Given the description of an element on the screen output the (x, y) to click on. 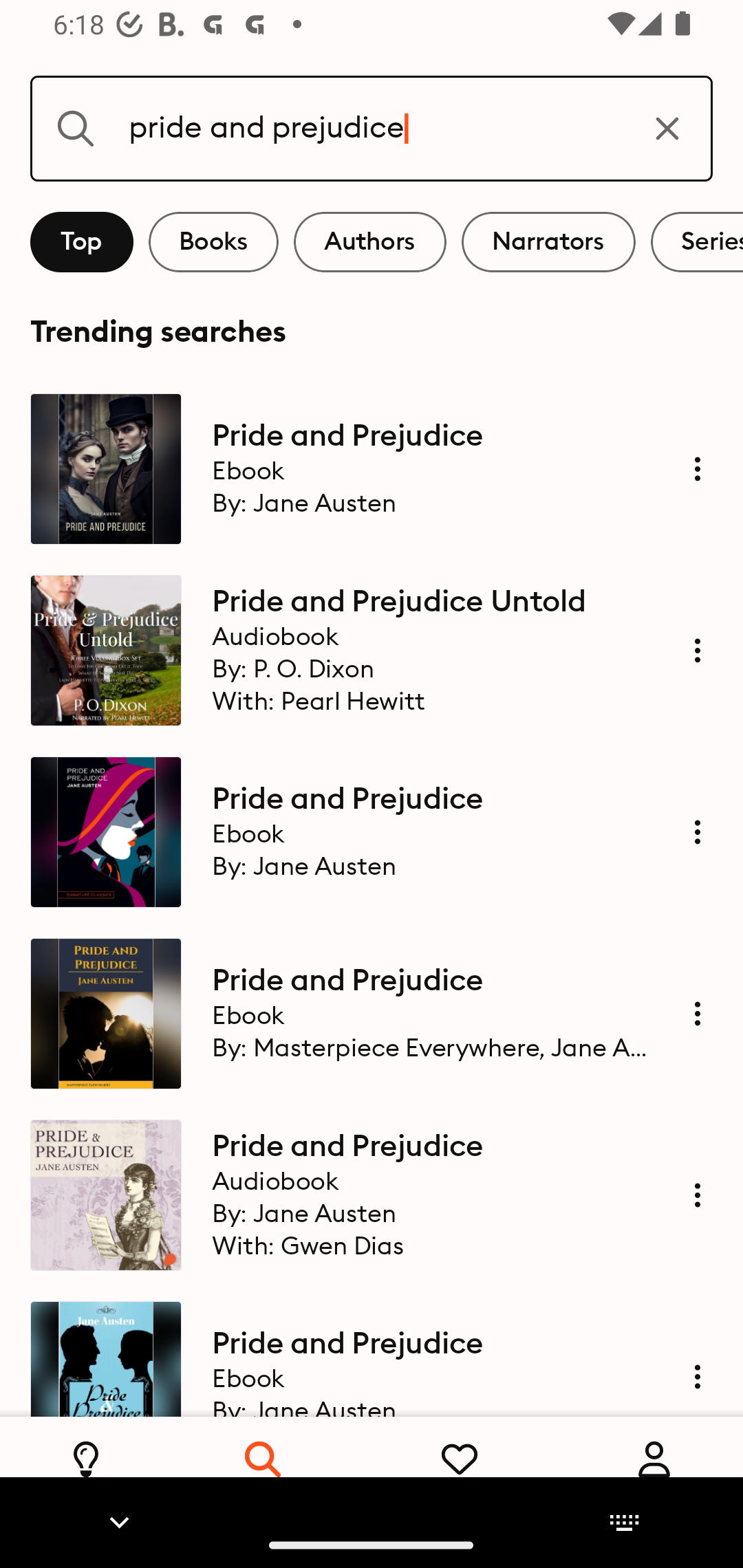
pride and prejudice (371, 128)
Top (81, 241)
Books (213, 241)
Authors (369, 241)
Narrators (548, 241)
Series (696, 241)
